Given the description of an element on the screen output the (x, y) to click on. 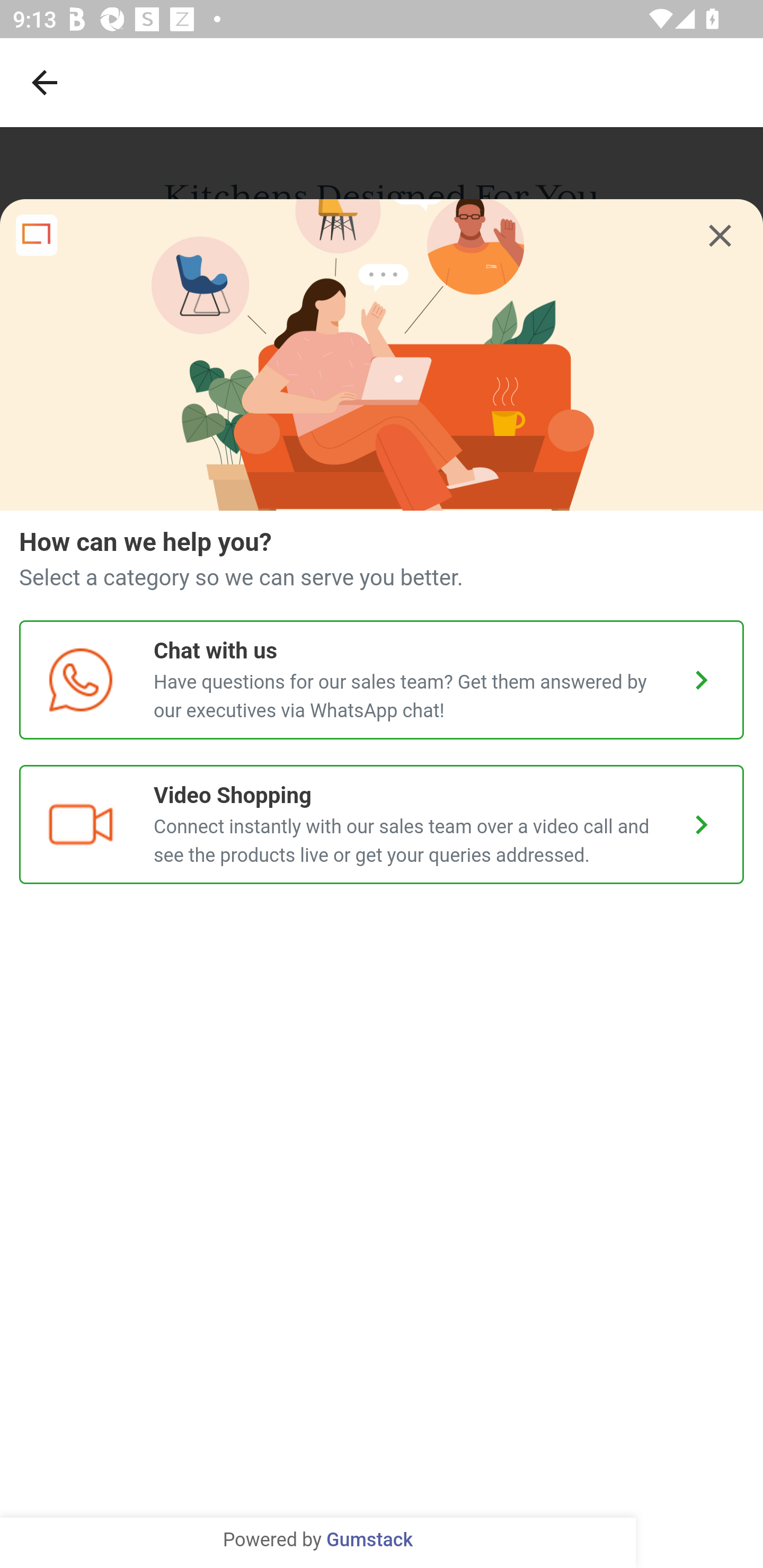
Navigate up (44, 82)
clear (720, 235)
Gumstack (369, 1540)
